Given the description of an element on the screen output the (x, y) to click on. 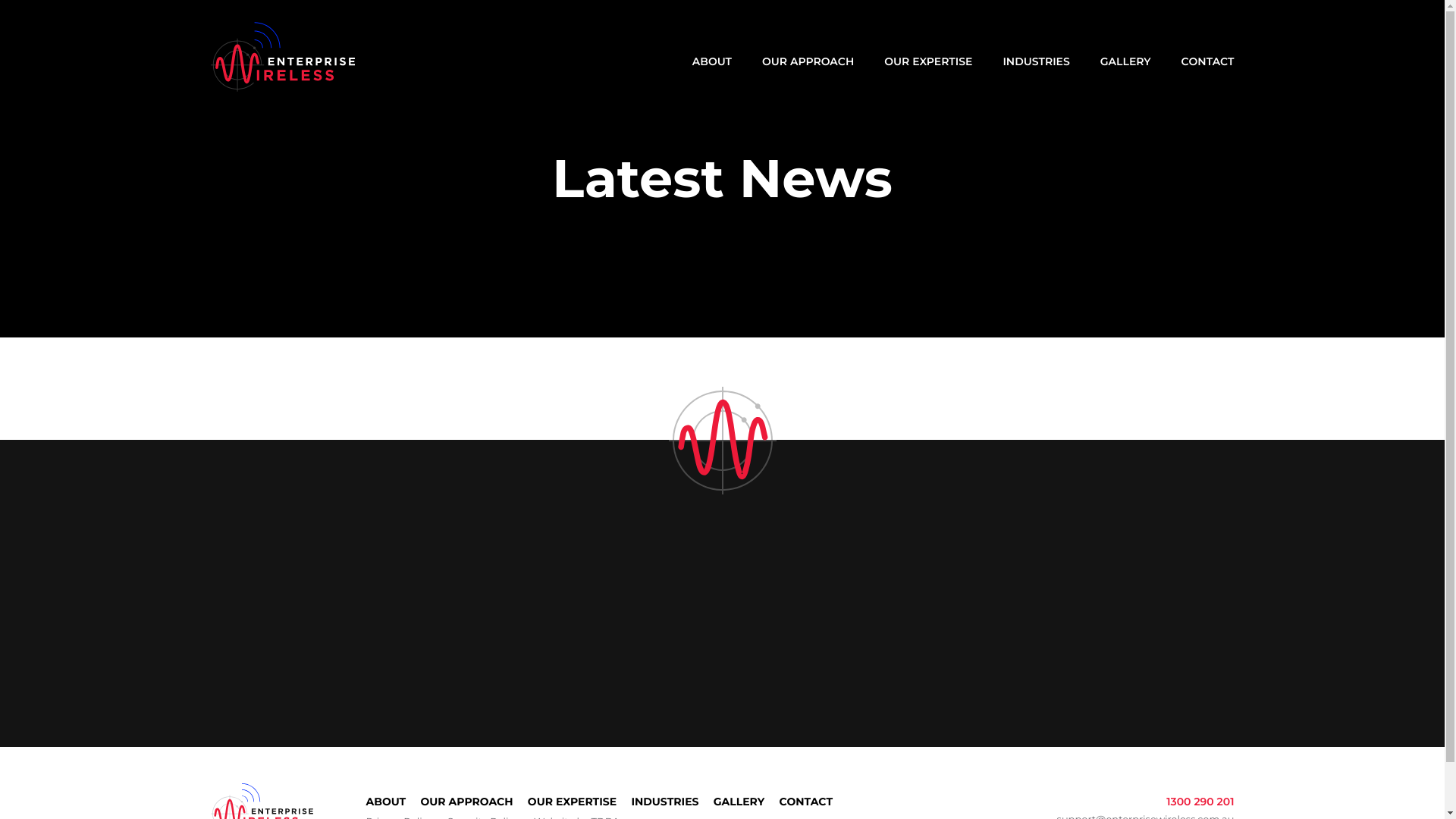
GALLERY Element type: text (738, 801)
OUR EXPERTISE Element type: text (928, 61)
OUR APPROACH Element type: text (807, 61)
INDUSTRIES Element type: text (664, 801)
ABOUT Element type: text (711, 61)
OUR APPROACH Element type: text (466, 801)
CONTACT Element type: text (805, 801)
1300 290 201 Element type: text (1199, 801)
CONTACT Element type: text (1207, 61)
GALLERY Element type: text (1125, 61)
OUR EXPERTISE Element type: text (571, 801)
INDUSTRIES Element type: text (1035, 61)
ABOUT Element type: text (385, 801)
